Given the description of an element on the screen output the (x, y) to click on. 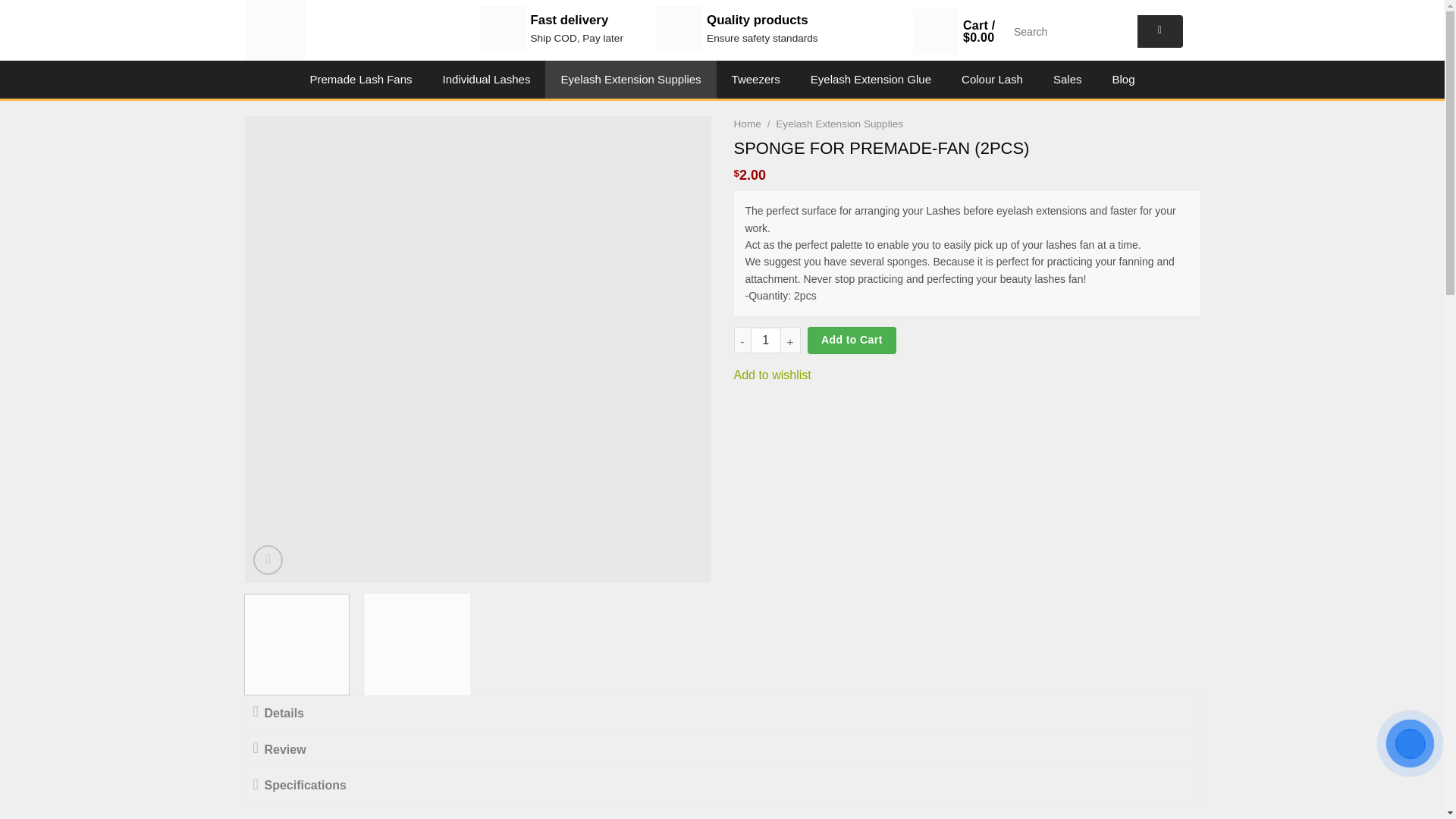
Zoom (267, 559)
Minh Lashes SHOP (306, 30)
Add to Cart (851, 339)
1 (765, 339)
Individual Lashes (487, 79)
Qty (765, 339)
Details (722, 713)
Sales (1067, 79)
